Given the description of an element on the screen output the (x, y) to click on. 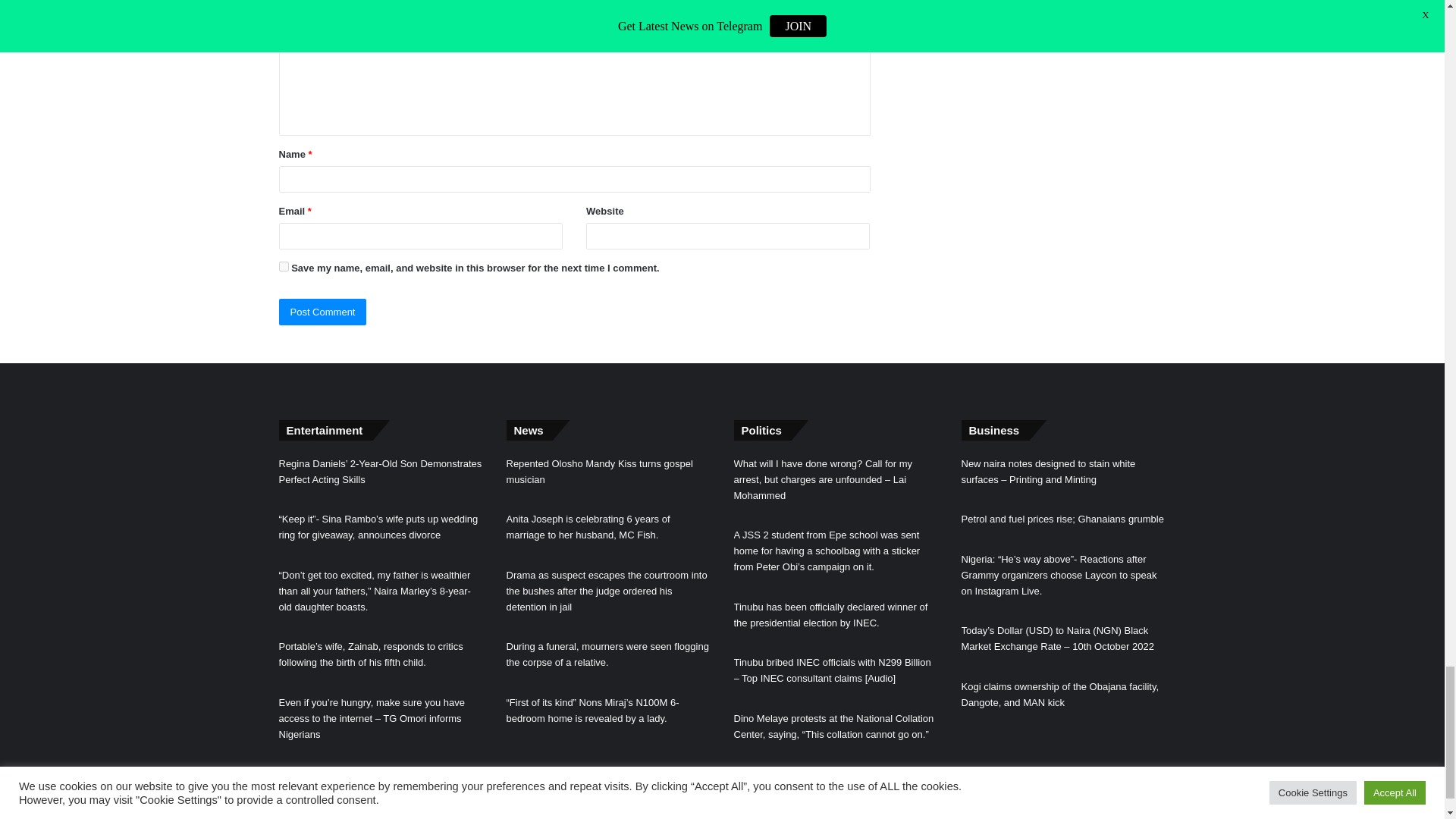
yes (283, 266)
Post Comment (322, 311)
